Given the description of an element on the screen output the (x, y) to click on. 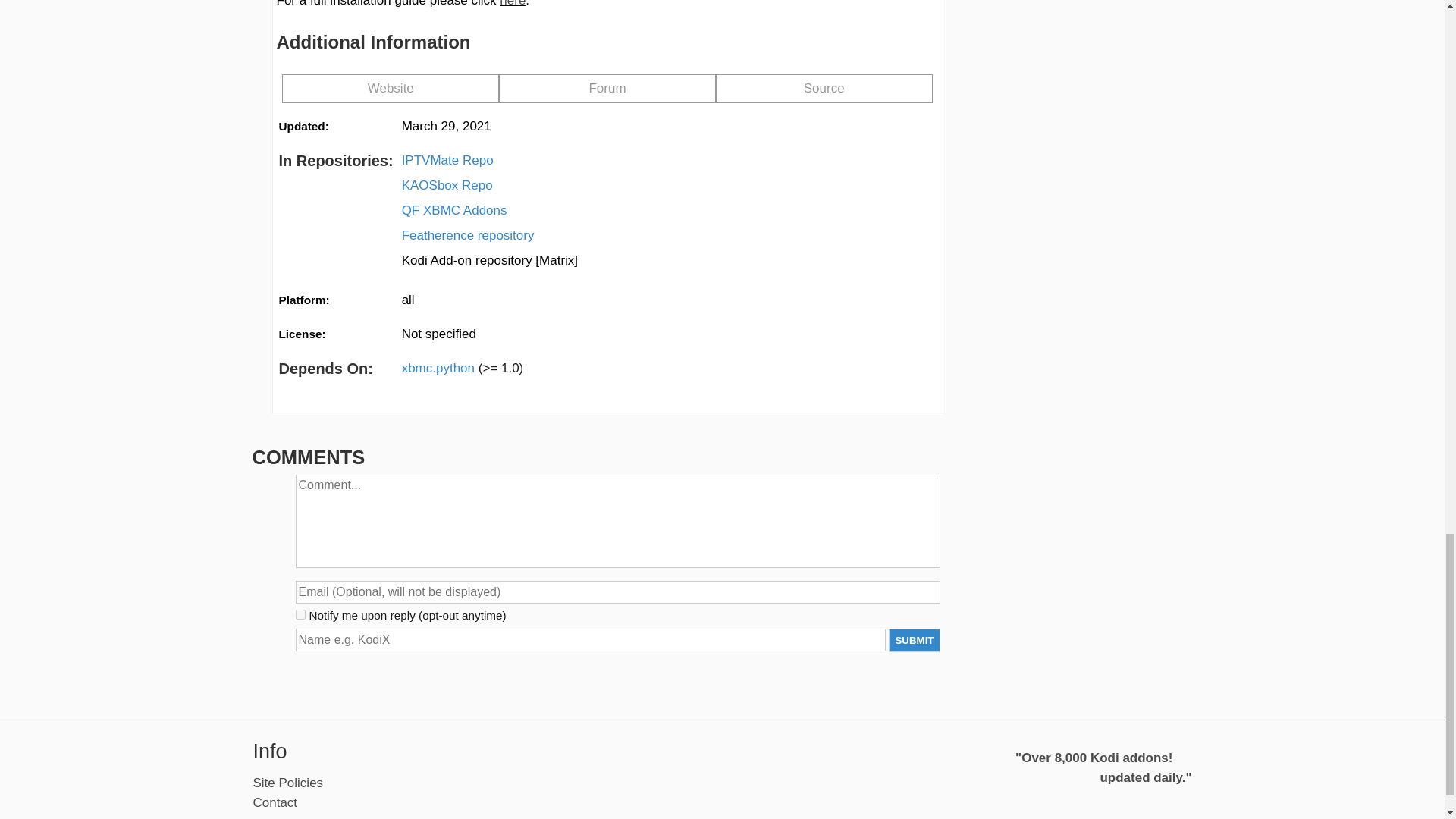
IPTVMate Repo (447, 160)
QF XBMC Addons (453, 210)
Site Policies (288, 782)
1 (300, 614)
here (512, 3)
KAOSbox Repo (447, 185)
SUBMIT (913, 639)
Contact (275, 802)
Featherence repository (467, 235)
